Given the description of an element on the screen output the (x, y) to click on. 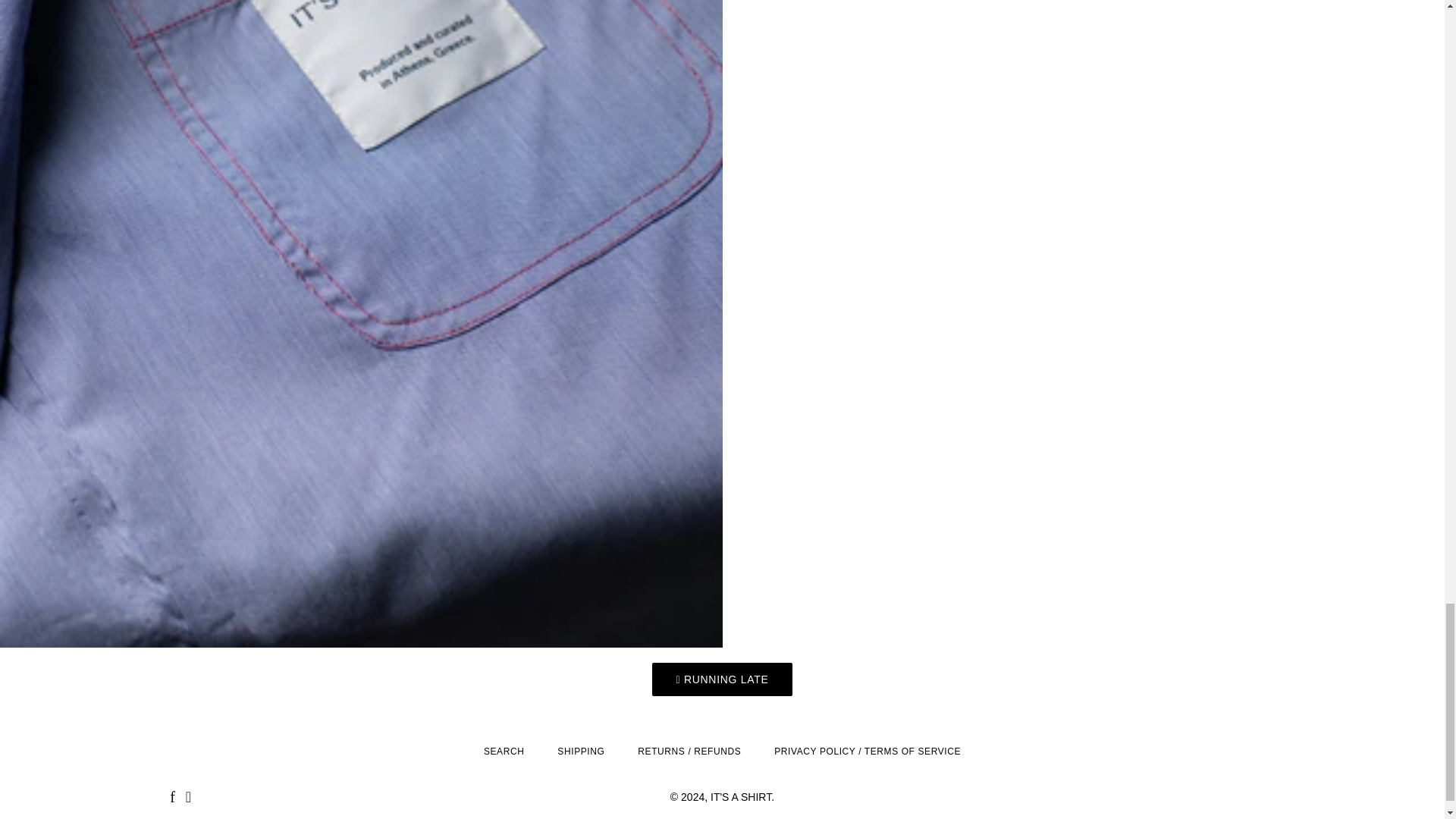
RUNNING LATE (722, 679)
SEARCH (504, 752)
IT'S A SHIRT (740, 797)
SHIPPING (580, 752)
